Given the description of an element on the screen output the (x, y) to click on. 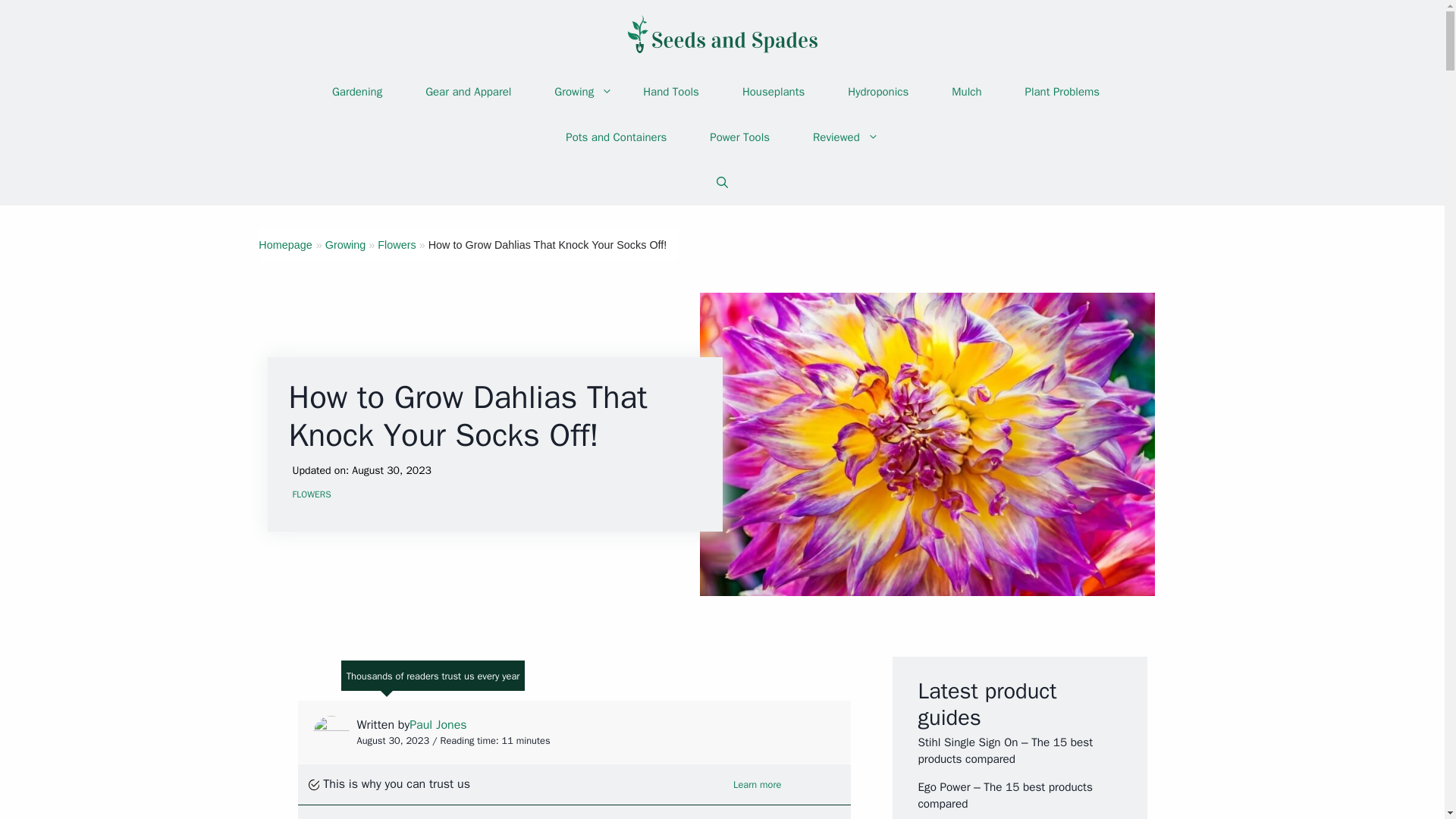
Hand Tools (670, 91)
Flowers (395, 244)
Plant Problems (1062, 91)
Category Name (345, 244)
Gear and Apparel (467, 91)
Mulch (965, 91)
Pots and Containers (615, 136)
Learn more (756, 784)
Author-Name (437, 724)
Growing (345, 244)
